Given the description of an element on the screen output the (x, y) to click on. 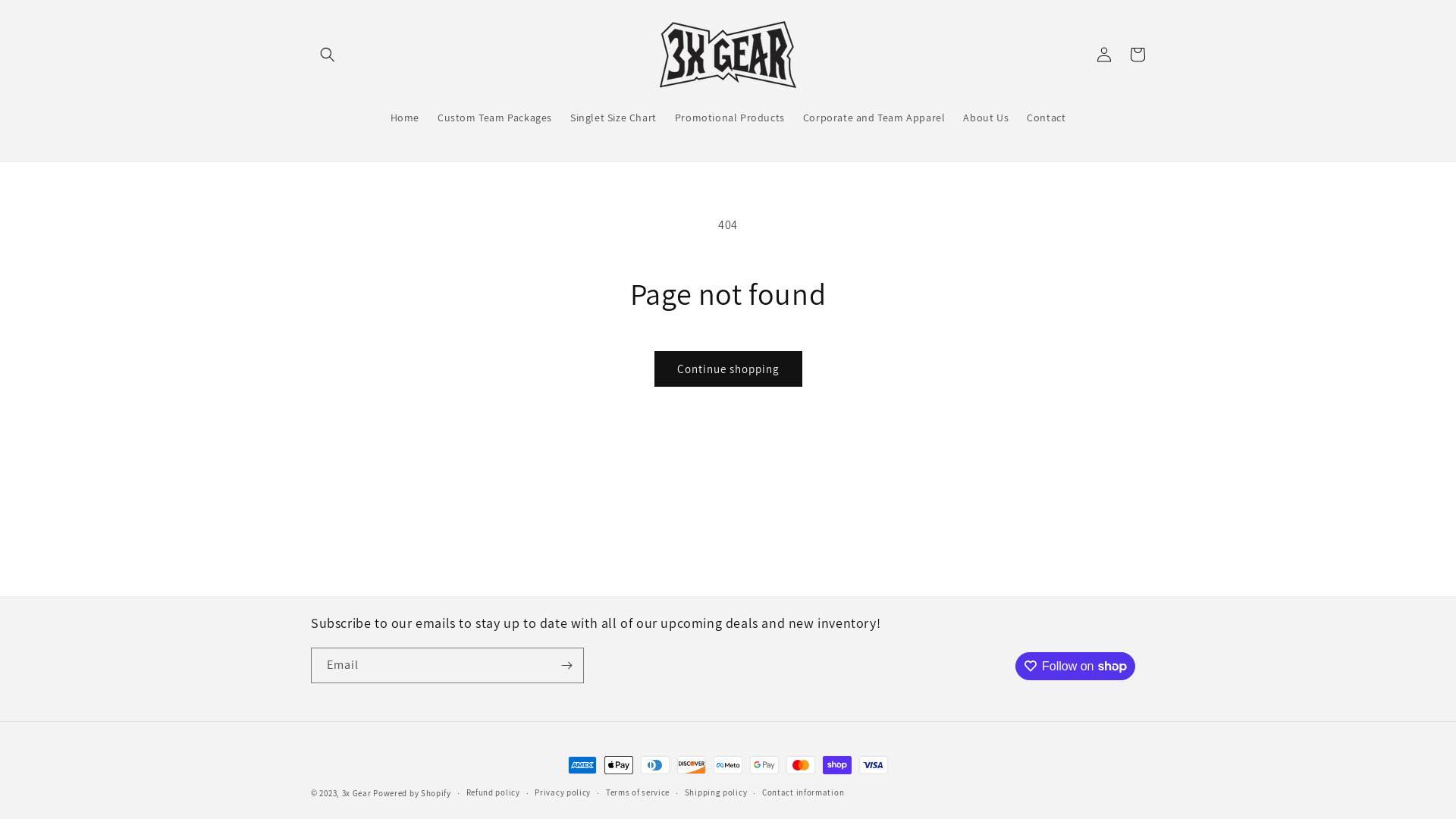
Custom Team Packages Element type: text (494, 117)
Singlet Size Chart Element type: text (613, 117)
Privacy policy Element type: text (562, 792)
Cart Element type: text (1137, 54)
3x Gear Element type: text (356, 792)
Log in Element type: text (1103, 54)
Shipping policy Element type: text (715, 792)
Refund policy Element type: text (493, 792)
Contact information Element type: text (803, 792)
Continue shopping Element type: text (727, 368)
Powered by Shopify Element type: text (412, 792)
About Us Element type: text (985, 117)
Terms of service Element type: text (637, 792)
Promotional Products Element type: text (729, 117)
Corporate and Team Apparel Element type: text (873, 117)
Home Element type: text (404, 117)
Contact Element type: text (1045, 117)
